Given the description of an element on the screen output the (x, y) to click on. 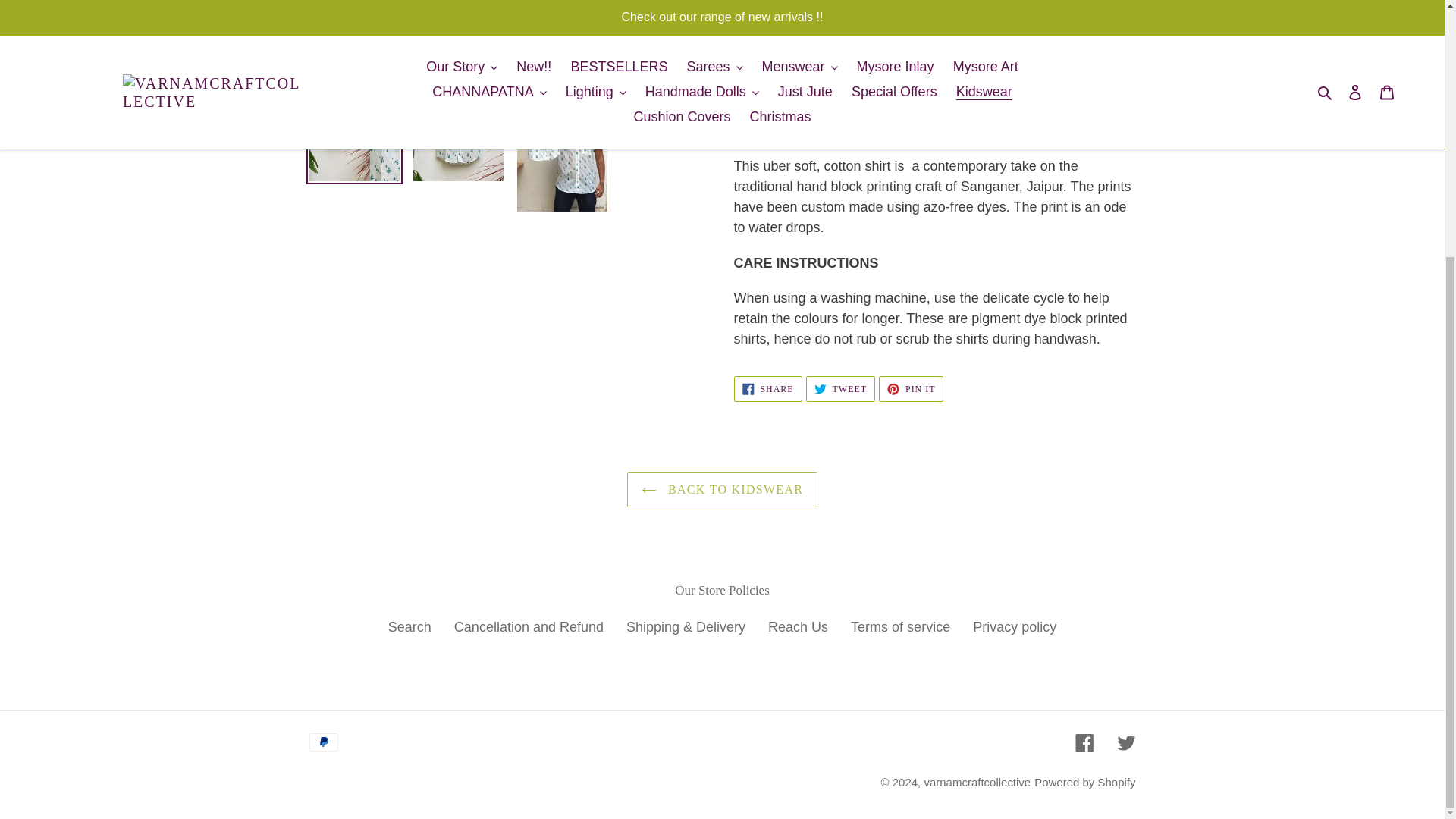
PayPal (322, 742)
